Given the description of an element on the screen output the (x, y) to click on. 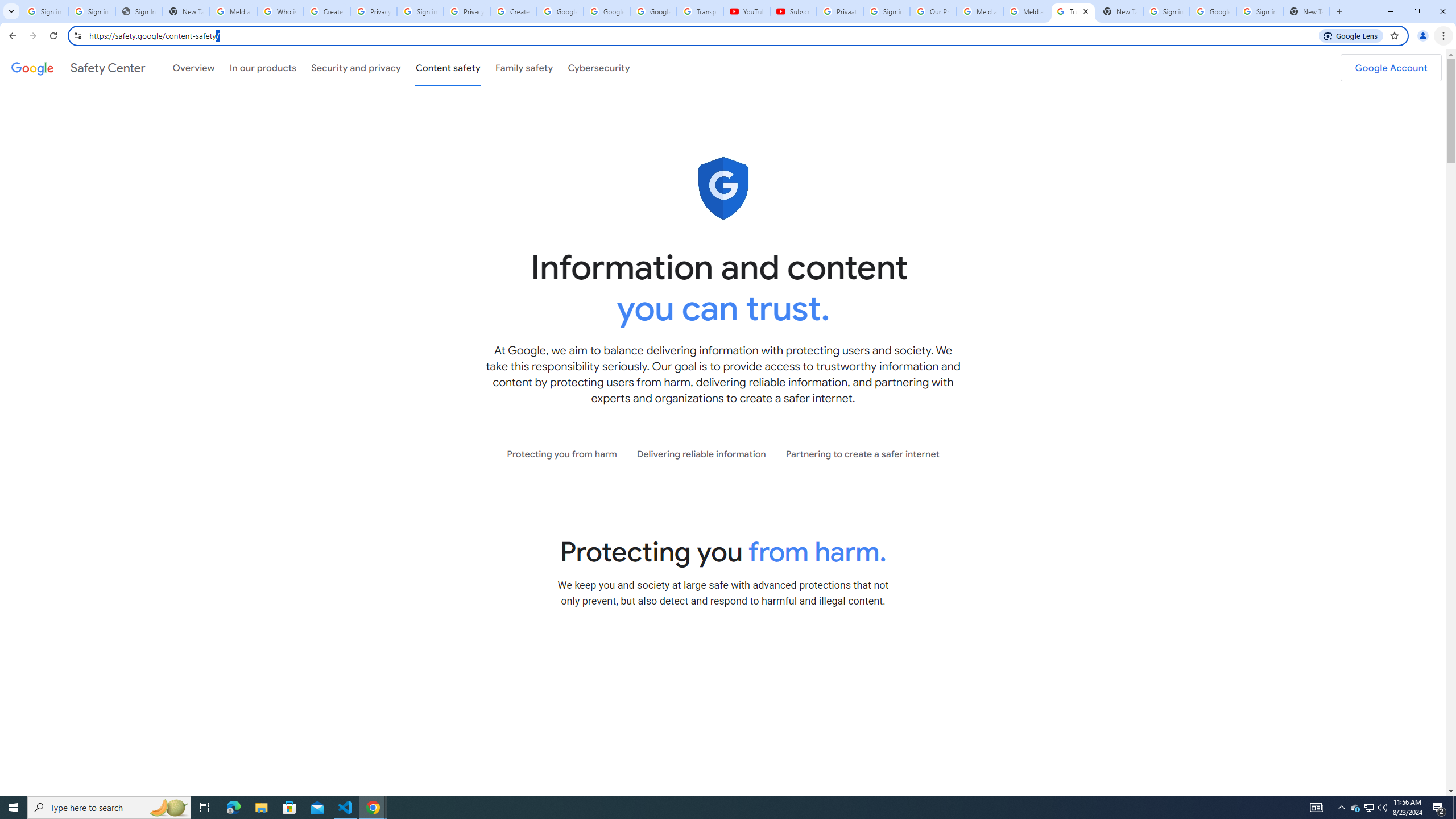
Create your Google Account (326, 11)
Sign in - Google Accounts (1166, 11)
Overview (193, 67)
Create your Google Account (512, 11)
Sign in - Google Accounts (44, 11)
Protecting you from harm (561, 454)
Sign in - Google Accounts (91, 11)
Search with Google Lens (1351, 35)
Sign In - USA TODAY (138, 11)
Google Account (1390, 67)
